Given the description of an element on the screen output the (x, y) to click on. 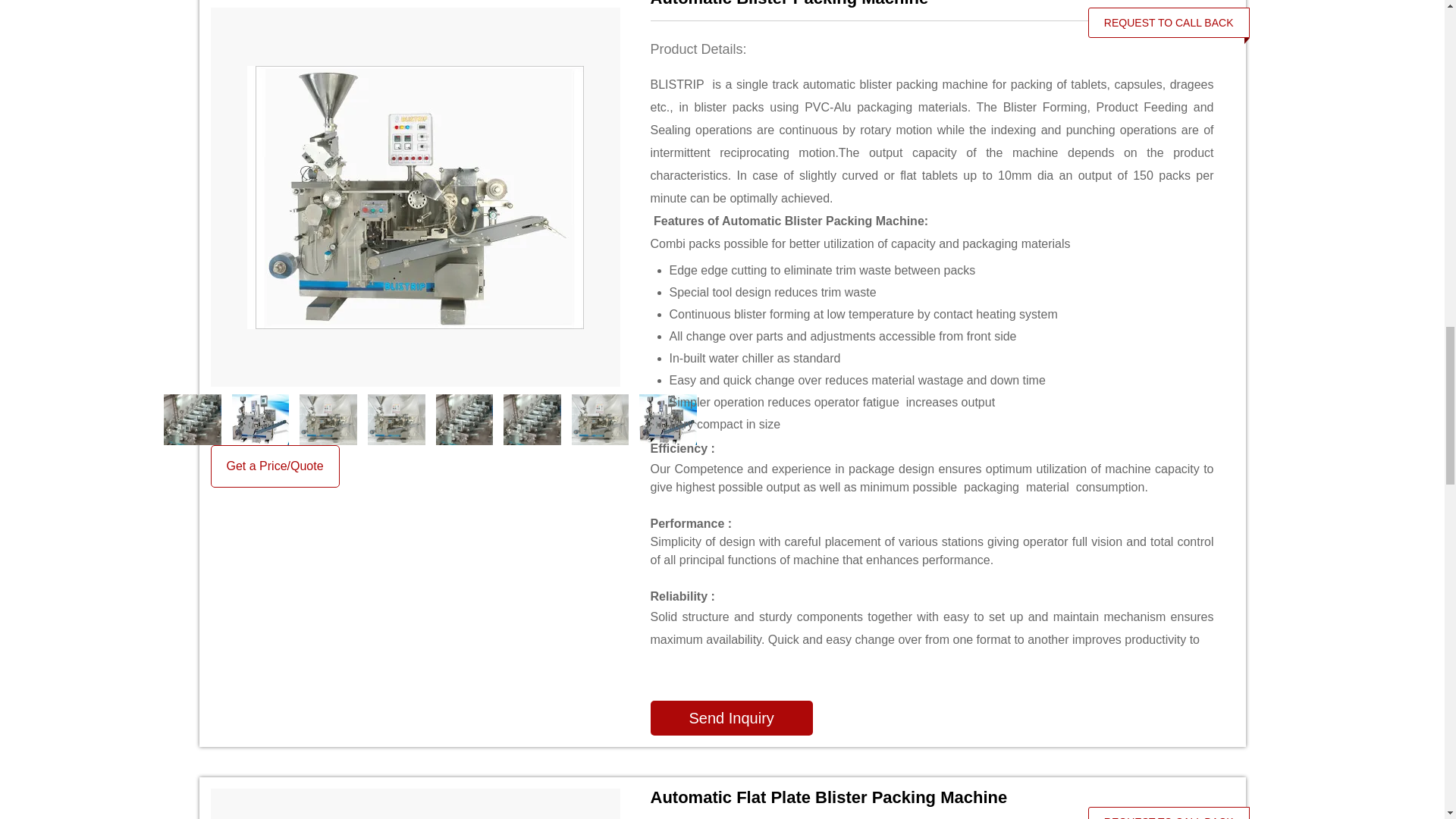
Automatic Flat Plate Blister Packing Machine (932, 797)
Send Inquiry (731, 718)
Automatic Blister Packing Machine (932, 3)
REQUEST TO CALL BACK (1169, 22)
